Given the description of an element on the screen output the (x, y) to click on. 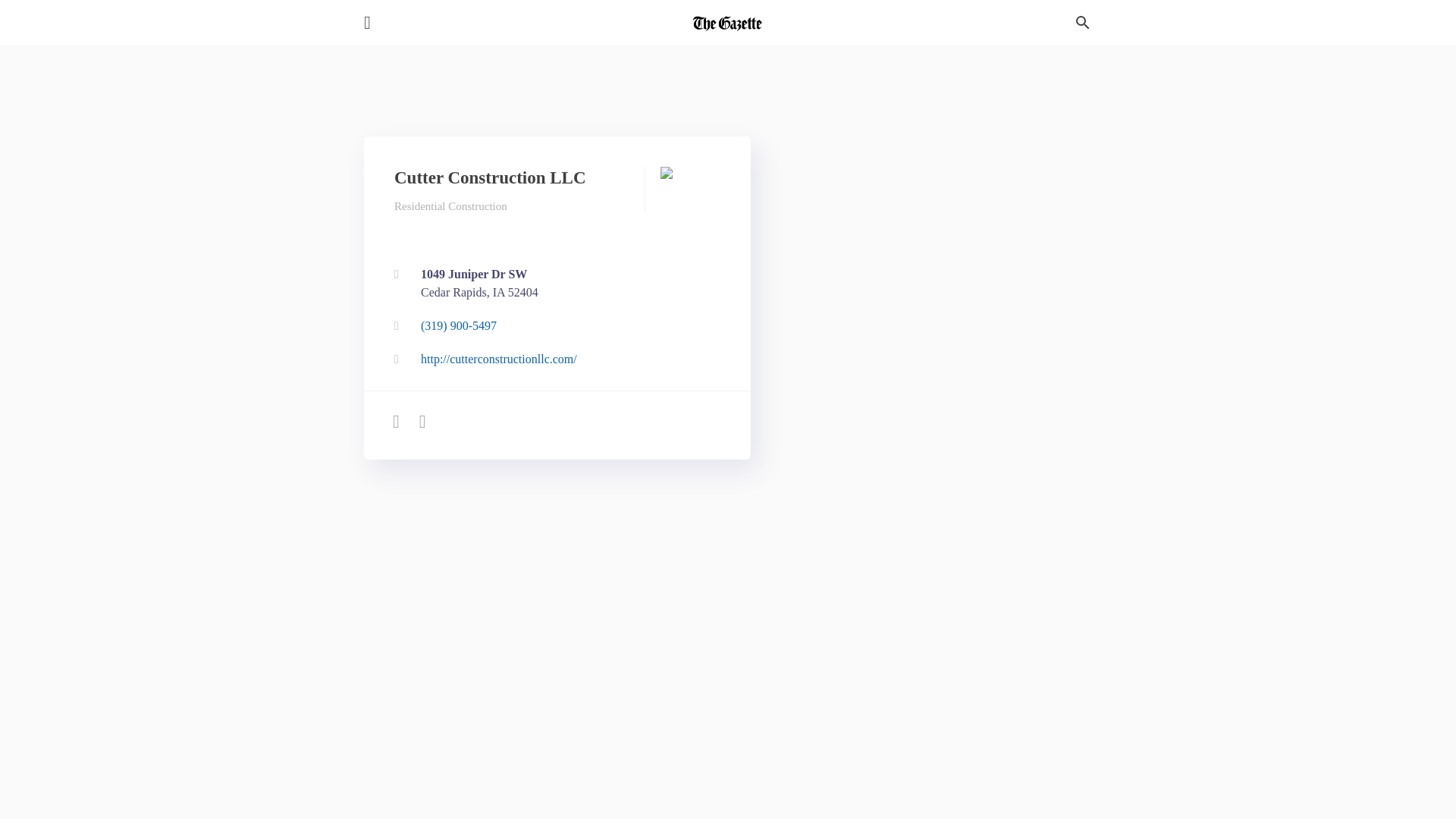
Residential Construction (450, 205)
Call Phone Number (553, 326)
Get directions (553, 283)
Open website in a new tab (553, 283)
Search business collapsed (553, 359)
